Given the description of an element on the screen output the (x, y) to click on. 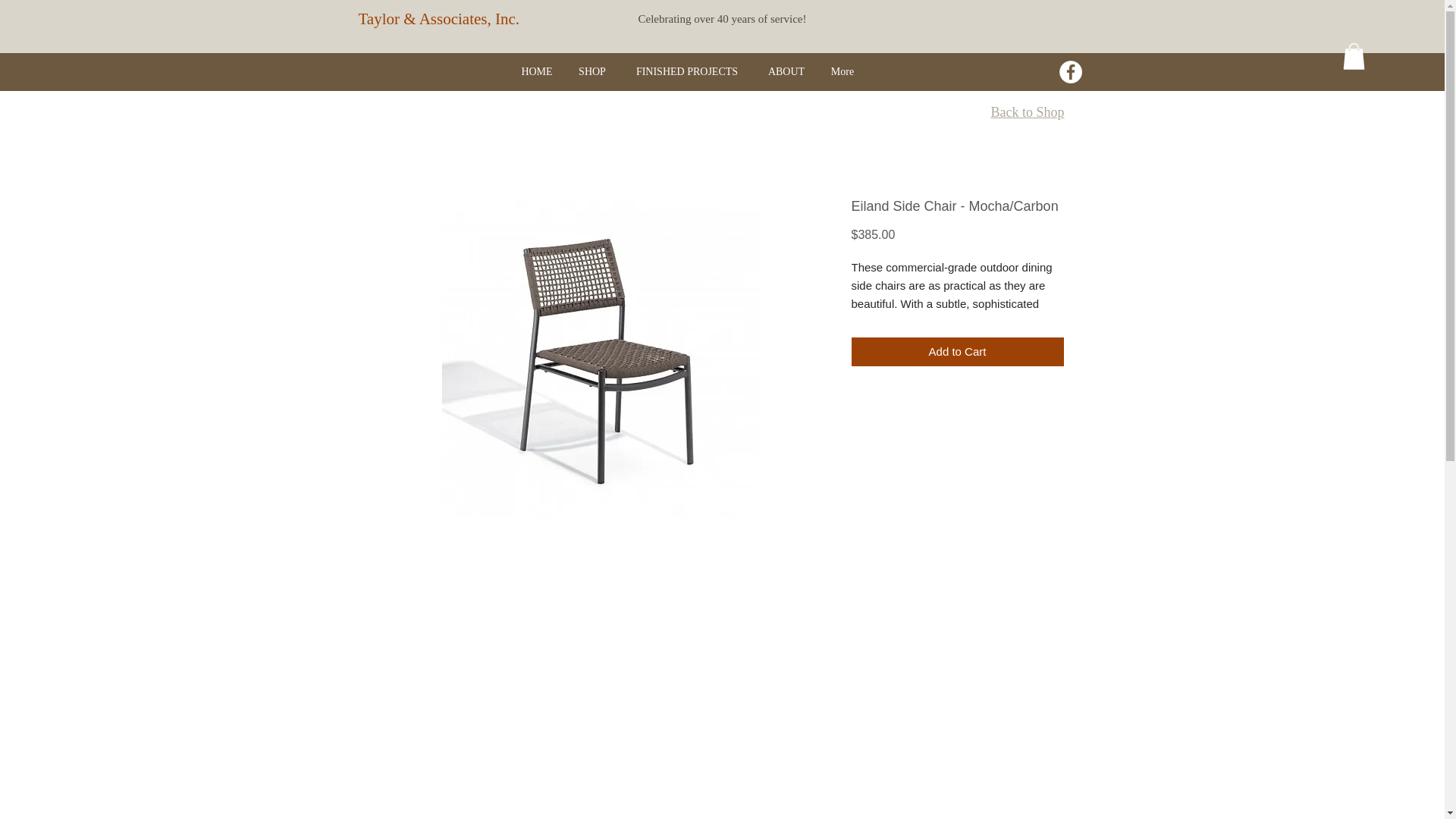
FINISHED PROJECTS (686, 71)
SHOP (593, 71)
HOME (536, 71)
Celebrating over 40 years of service! (722, 19)
ABOUT (786, 71)
Back to Shop (1027, 111)
Add to Cart (956, 351)
